Given the description of an element on the screen output the (x, y) to click on. 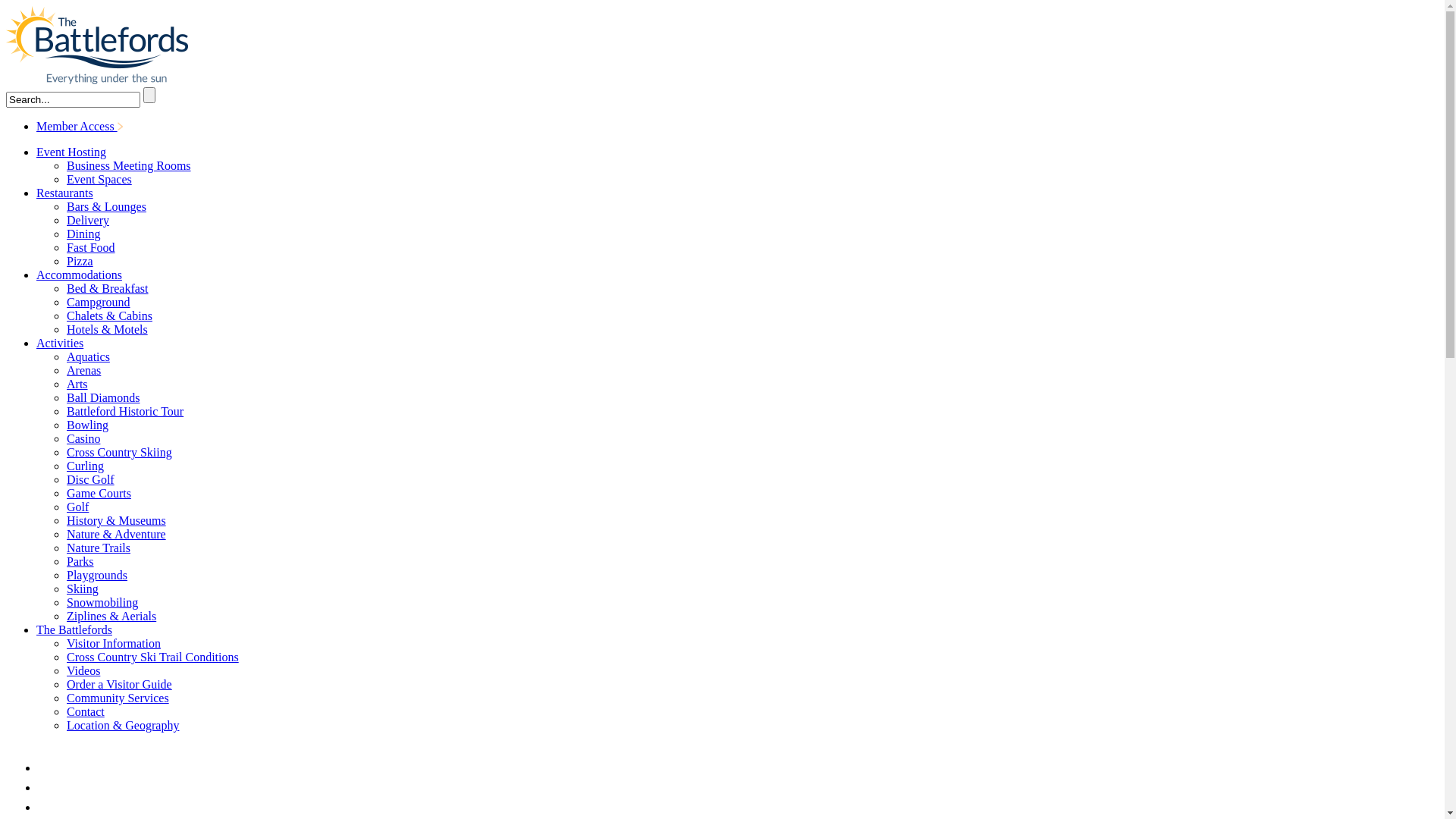
Disc Golf Element type: text (90, 479)
Battleford Historic Tour Element type: text (124, 410)
Nature Trails Element type: text (98, 547)
Fast Food Element type: text (90, 247)
Snowmobiling Element type: text (102, 602)
Playgrounds Element type: text (96, 574)
History & Museums Element type: text (116, 520)
Restaurants Element type: text (64, 192)
The Battlefords Element type: text (74, 629)
Bowling Element type: text (87, 424)
Golf Element type: text (77, 506)
Curling Element type: text (84, 465)
Event Hosting Element type: text (71, 151)
Member Access Element type: text (79, 125)
Parks Element type: text (80, 561)
Ball Diamonds Element type: text (102, 397)
Visitor Information Element type: text (113, 643)
Aquatics Element type: text (87, 356)
Bed & Breakfast Element type: text (107, 288)
Chalets & Cabins Element type: text (109, 315)
Accommodations Element type: text (79, 274)
Contact Element type: text (85, 711)
Game Courts Element type: text (98, 492)
Location & Geography Element type: text (122, 724)
Cross Country Ski Trail Conditions Element type: text (152, 656)
Casino Element type: text (83, 438)
Order a Visitor Guide Element type: text (119, 683)
Activities Element type: text (59, 342)
Dining Element type: text (83, 233)
Community Services Element type: text (117, 697)
Videos Element type: text (83, 670)
Event Spaces Element type: text (98, 178)
Ziplines & Aerials Element type: text (111, 615)
Arenas Element type: text (83, 370)
Pizza Element type: text (79, 260)
Bars & Lounges Element type: text (106, 206)
Business Meeting Rooms Element type: text (128, 165)
Campground Element type: text (98, 301)
Cross Country Skiing Element type: text (119, 451)
Nature & Adventure Element type: text (116, 533)
Delivery Element type: text (87, 219)
Skiing Element type: text (82, 588)
Arts Element type: text (76, 383)
Hotels & Motels Element type: text (106, 329)
